Given the description of an element on the screen output the (x, y) to click on. 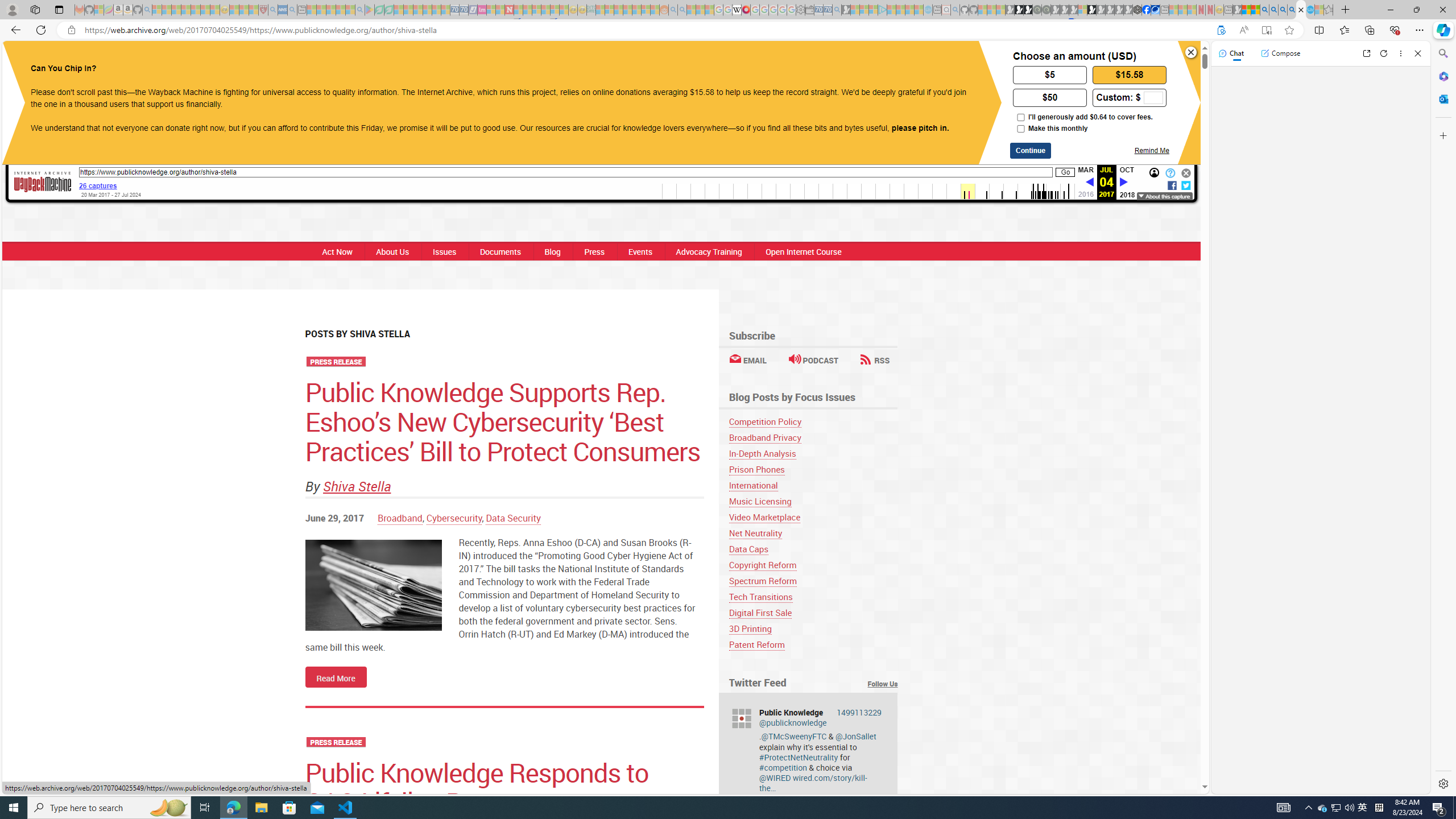
YOUTUBE (737, 60)
Nordace | Facebook (1146, 9)
Favorites - Sleeping (1328, 9)
@JonSallet (855, 736)
Advocacy Training (708, 251)
#competition (783, 767)
In-Depth Analysis (762, 453)
Press (594, 251)
AutomationID: wm-sparkline-canvas (868, 191)
